Given the description of an element on the screen output the (x, y) to click on. 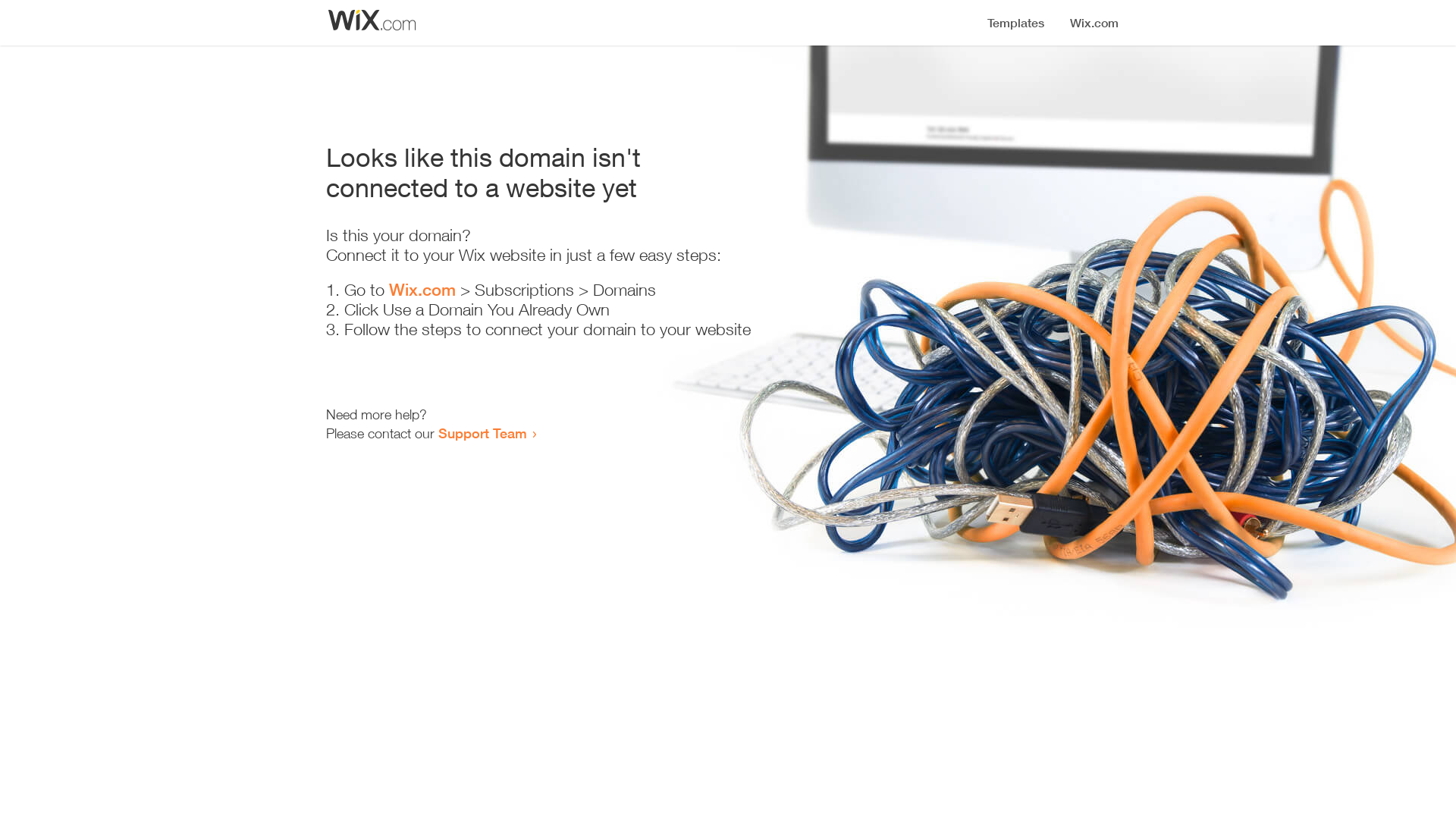
Support Team Element type: text (482, 432)
Wix.com Element type: text (422, 289)
